Given the description of an element on the screen output the (x, y) to click on. 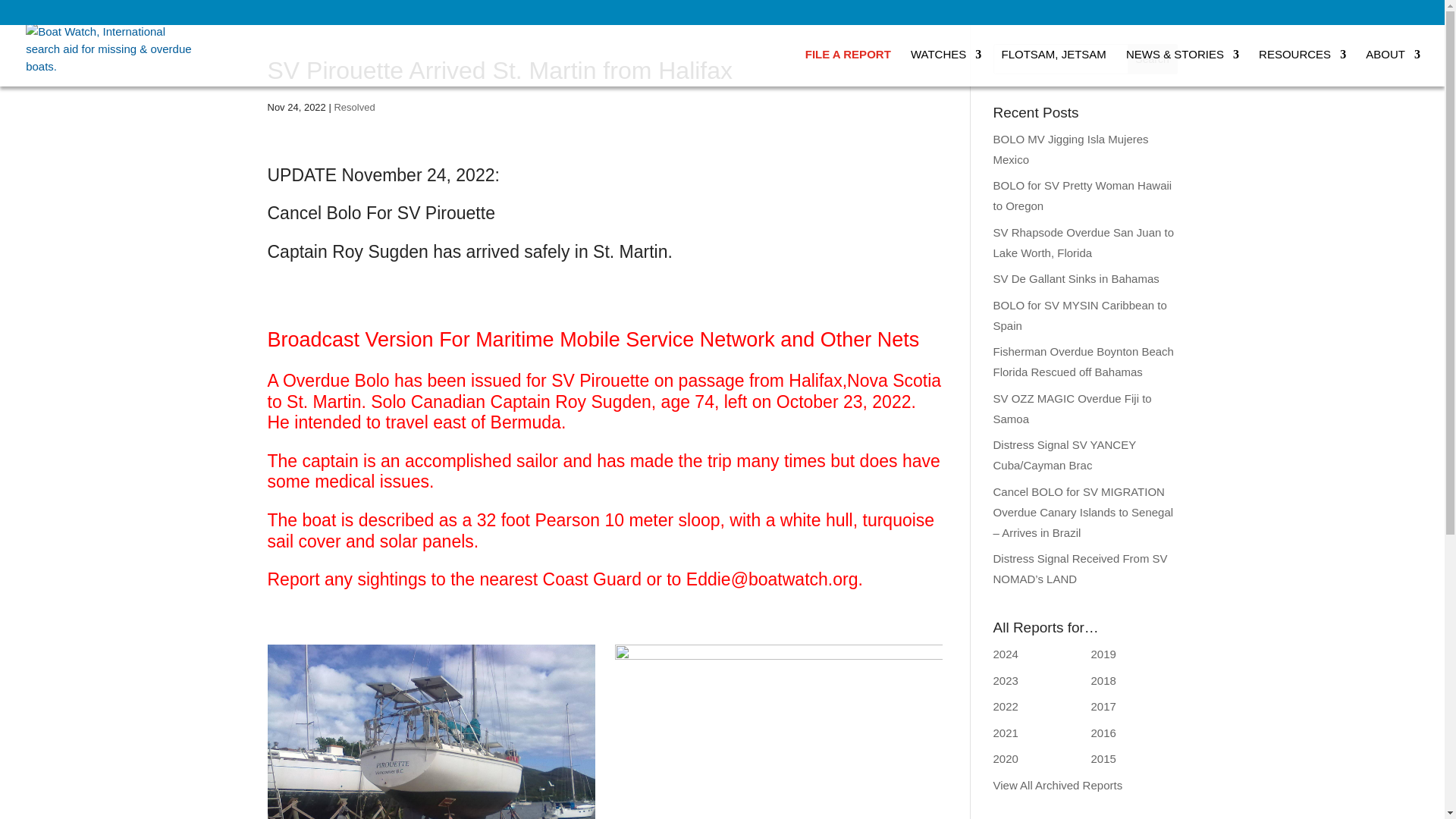
RESOURCES (1302, 67)
SV Rhapsode Overdue San Juan to Lake Worth, Florida (1083, 242)
FILE A REPORT (848, 67)
2017 (1102, 706)
2020 (1004, 758)
FLOTSAM, JETSAM (1053, 67)
SV OZZ MAGIC Overdue Fiji to Samoa (1071, 408)
2021 (1004, 732)
BOLO for SV Pretty Woman Hawaii to Oregon (1082, 195)
Resolved (353, 107)
WATCHES (946, 67)
2022 (1004, 706)
2023 (1004, 680)
SV De Gallant Sinks in Bahamas (1075, 278)
Search (1151, 59)
